Given the description of an element on the screen output the (x, y) to click on. 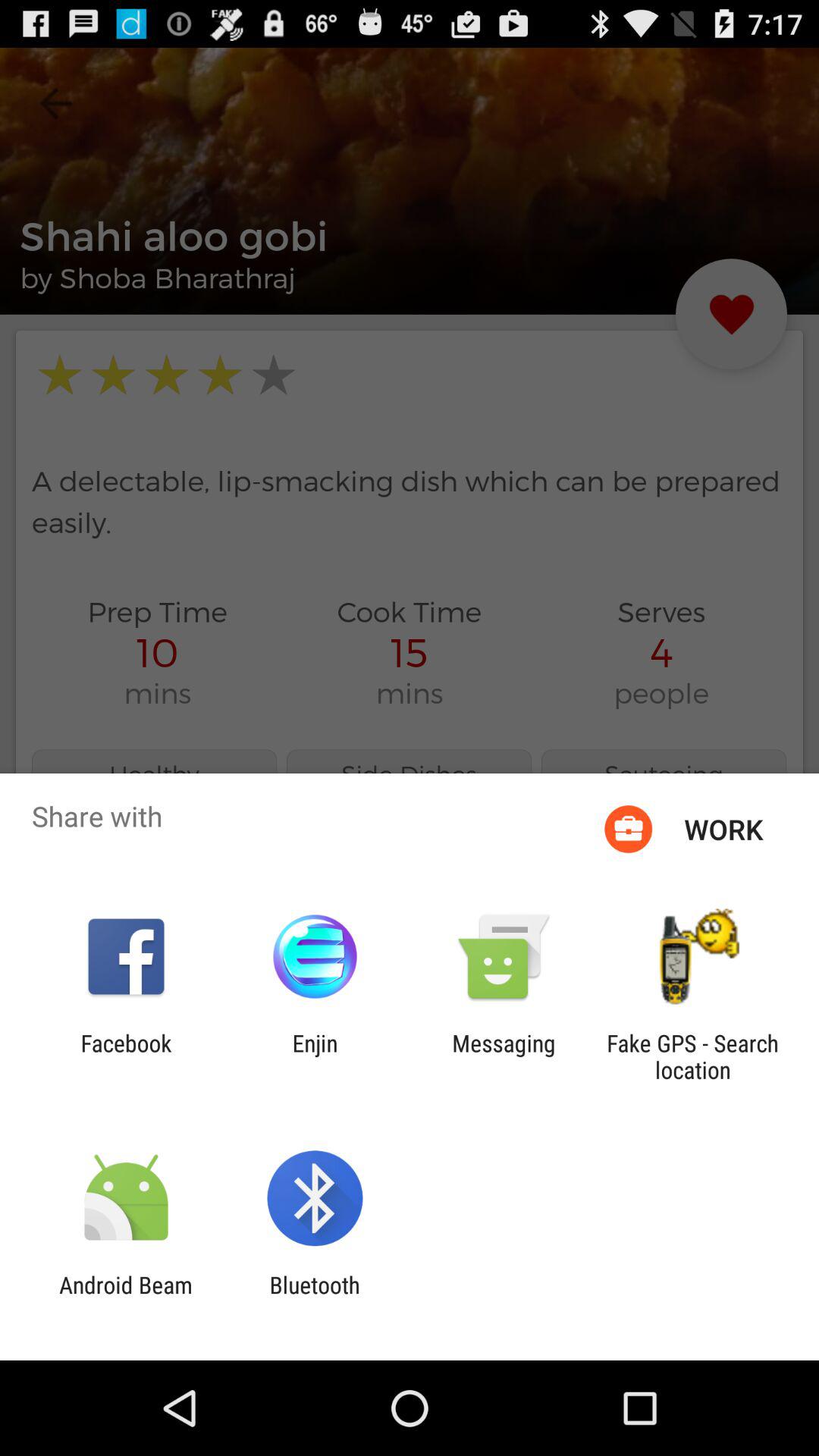
turn on the bluetooth (314, 1298)
